Given the description of an element on the screen output the (x, y) to click on. 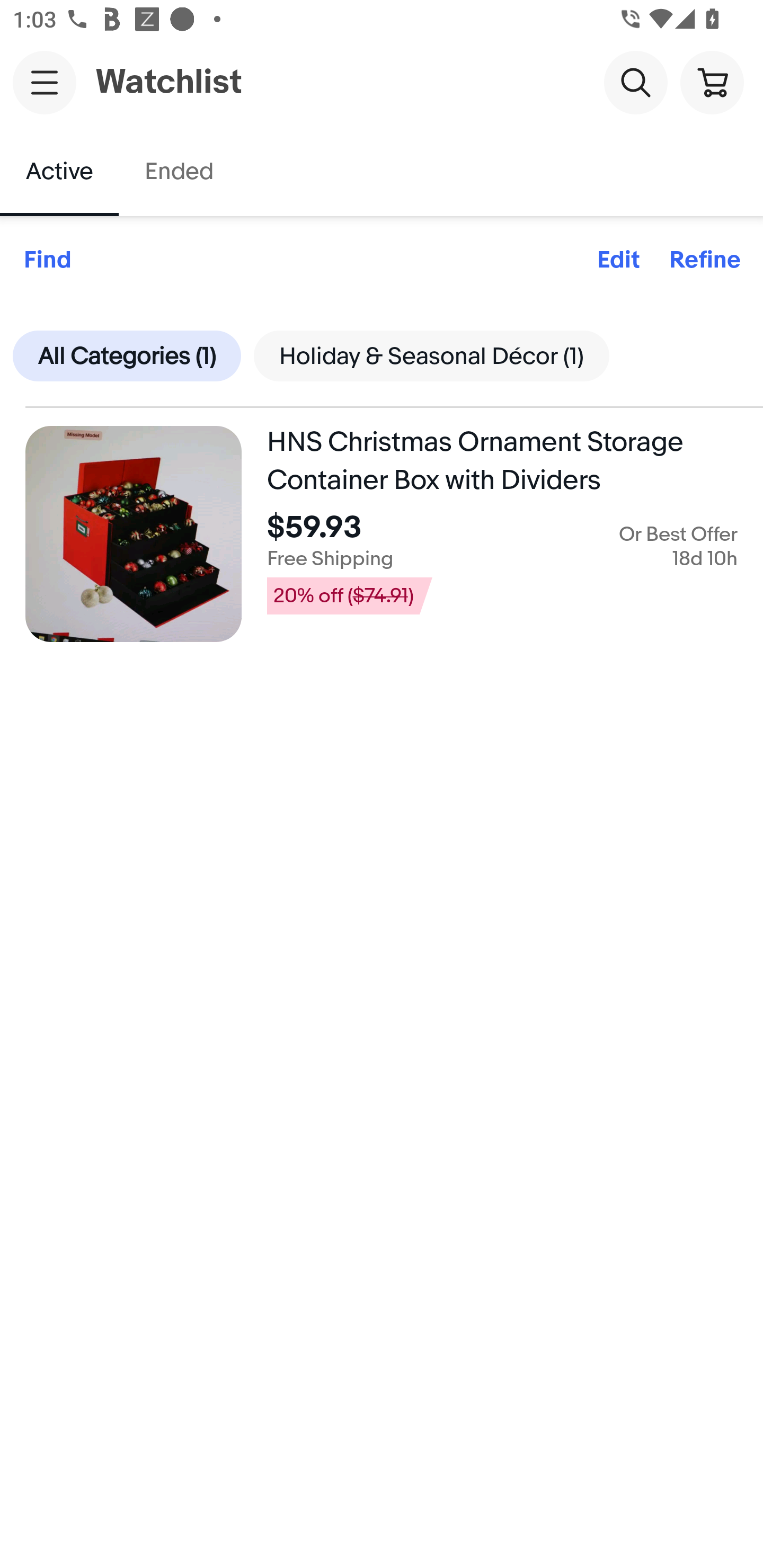
Main navigation, open (44, 82)
Search (635, 81)
Cart button shopping cart (711, 81)
Ended (178, 171)
Find Find in list (47, 260)
Edit Edit list (617, 260)
Refine Refine list (704, 260)
All Categories (1) (126, 355)
Holiday & Seasonal Décor (1) (431, 355)
